Given the description of an element on the screen output the (x, y) to click on. 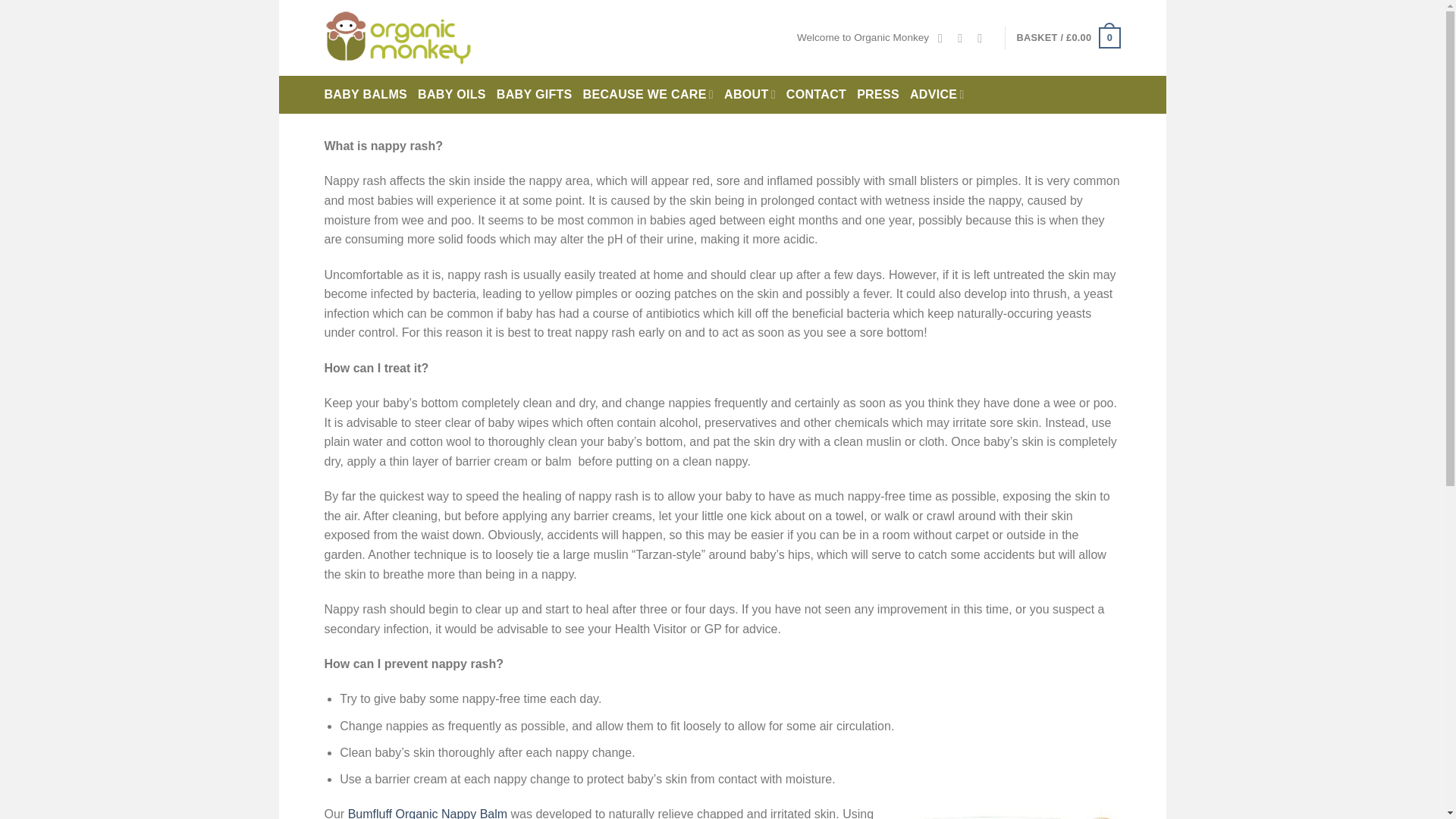
ABOUT (749, 94)
BECAUSE WE CARE (648, 94)
CONTACT (815, 94)
Bumfluff Organic Nappy Balm (426, 813)
BABY BALMS (365, 94)
BABY OILS (451, 94)
BABY GIFTS (534, 94)
